Given the description of an element on the screen output the (x, y) to click on. 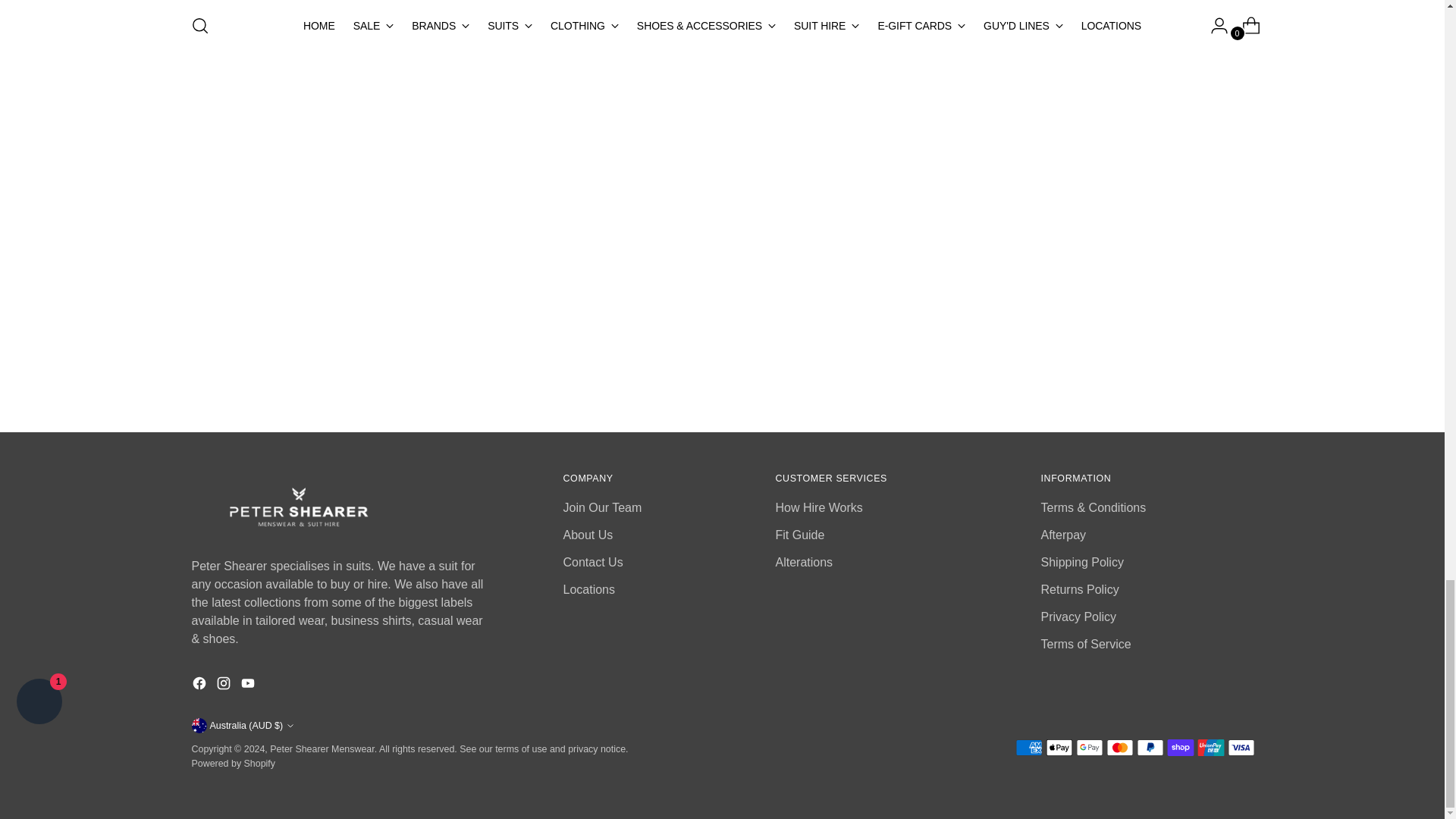
Peter Shearer Menswear on Facebook (199, 685)
Peter Shearer Menswear on YouTube (248, 685)
Peter Shearer Menswear on Instagram (223, 685)
